Given the description of an element on the screen output the (x, y) to click on. 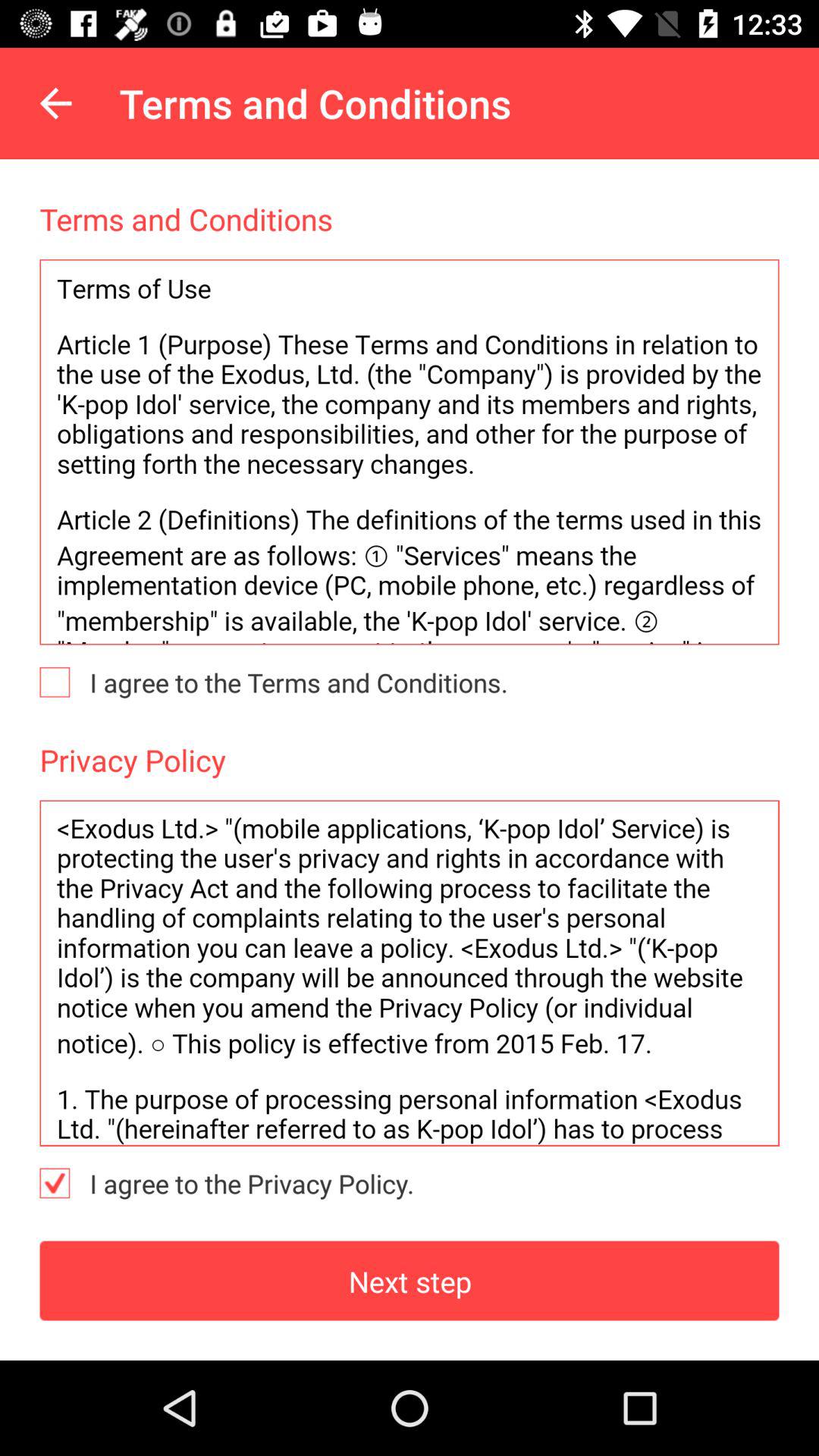
browse the privacy policy (409, 973)
